Given the description of an element on the screen output the (x, y) to click on. 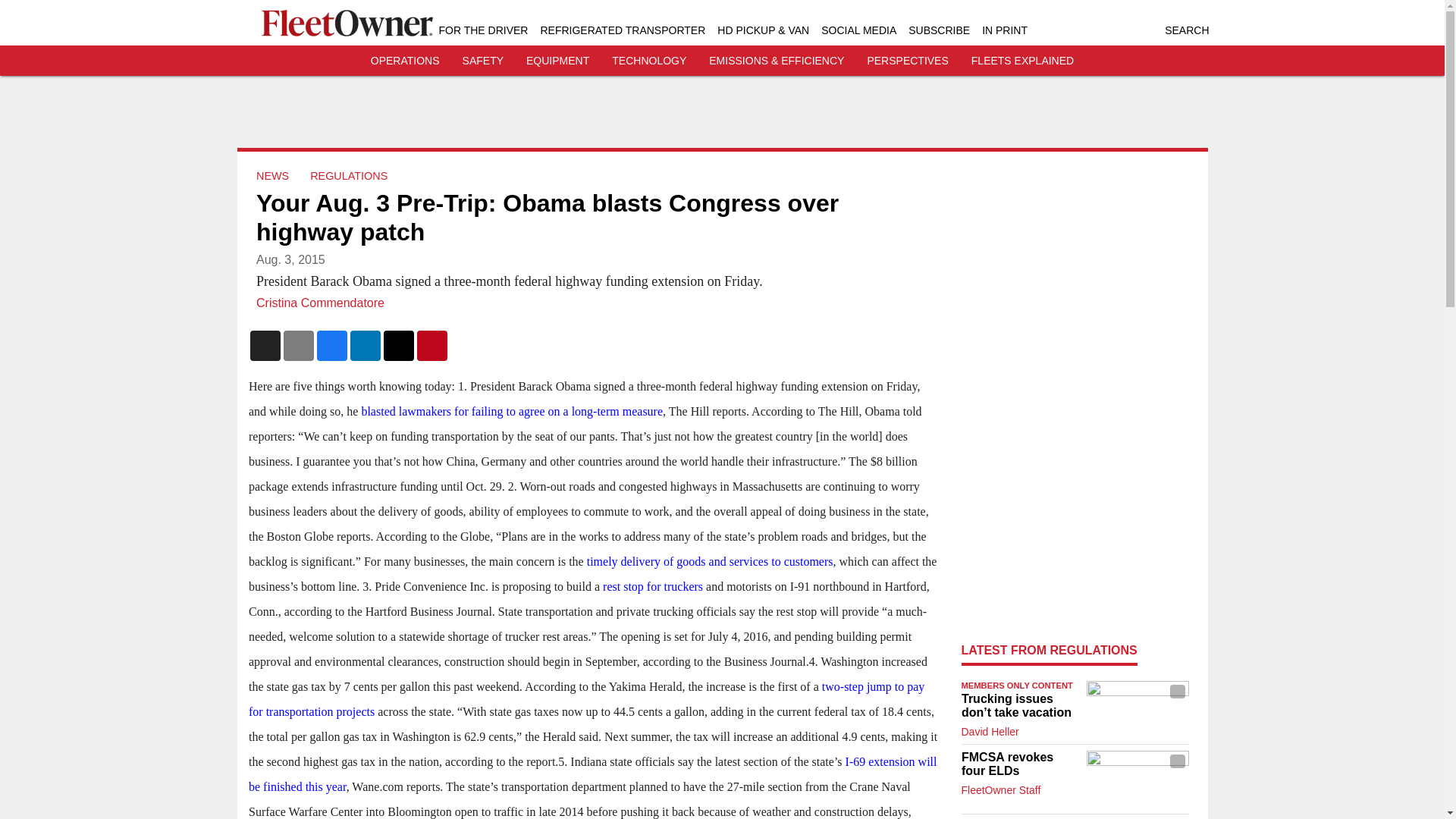
SAFETY (483, 60)
Cristina Commendatore (320, 302)
EQUIPMENT (557, 60)
SUBSCRIBE (938, 30)
REFRIGERATED TRANSPORTER (622, 30)
FLEETS EXPLAINED (1022, 60)
SEARCH (1186, 30)
NEWS (272, 175)
PERSPECTIVES (906, 60)
SOCIAL MEDIA (858, 30)
FOR THE DRIVER (482, 30)
REGULATIONS (348, 175)
IN PRINT (1004, 30)
TECHNOLOGY (648, 60)
OPERATIONS (405, 60)
